Given the description of an element on the screen output the (x, y) to click on. 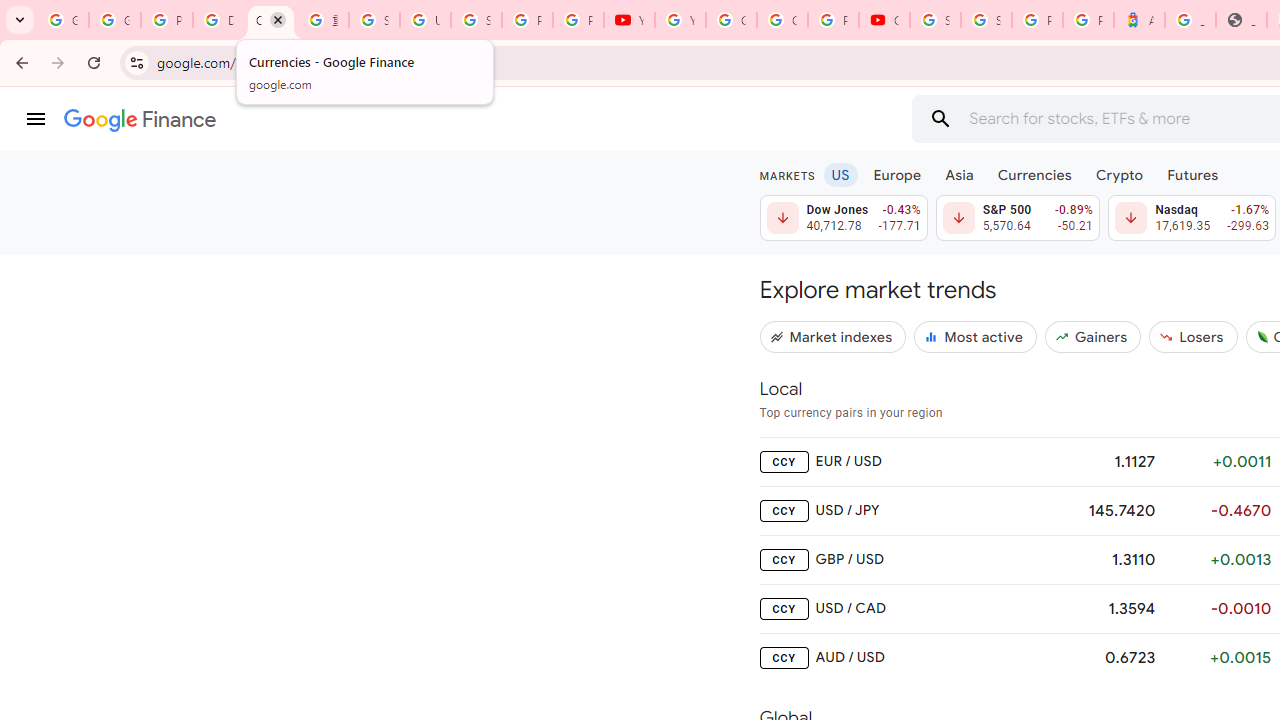
Privacy Checkup (578, 20)
Crypto (1119, 174)
Losers (1193, 336)
Dow Jones 40,712.78 Down by 0.43% -177.71 (843, 218)
Main menu (35, 119)
Google Workspace Admin Community (63, 20)
Sign in - Google Accounts (475, 20)
Currencies - Google Finance (270, 20)
Asia (958, 174)
